Given the description of an element on the screen output the (x, y) to click on. 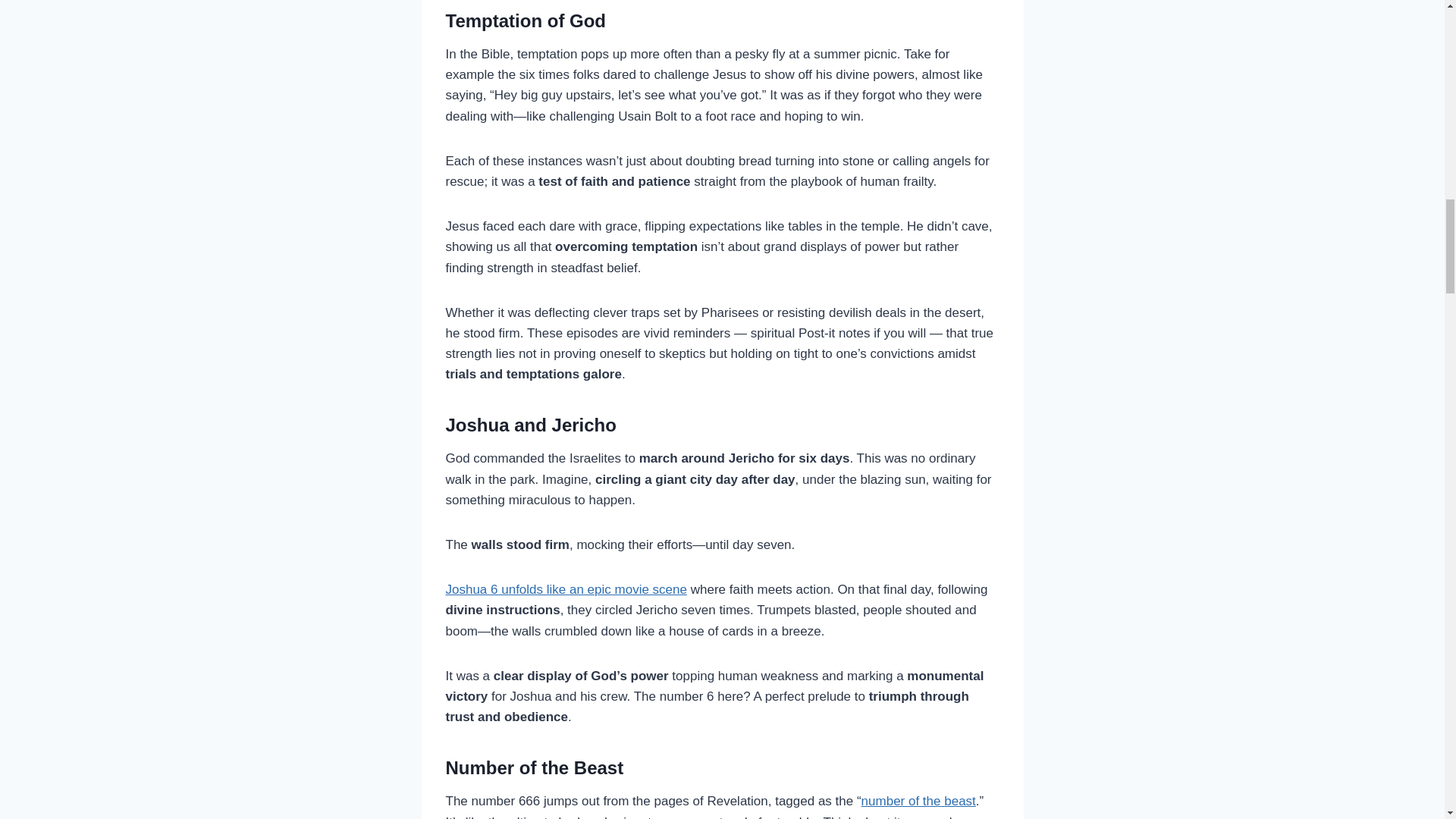
Joshua 6 unfolds like an epic movie scene (566, 589)
number of the beast (918, 800)
